Given the description of an element on the screen output the (x, y) to click on. 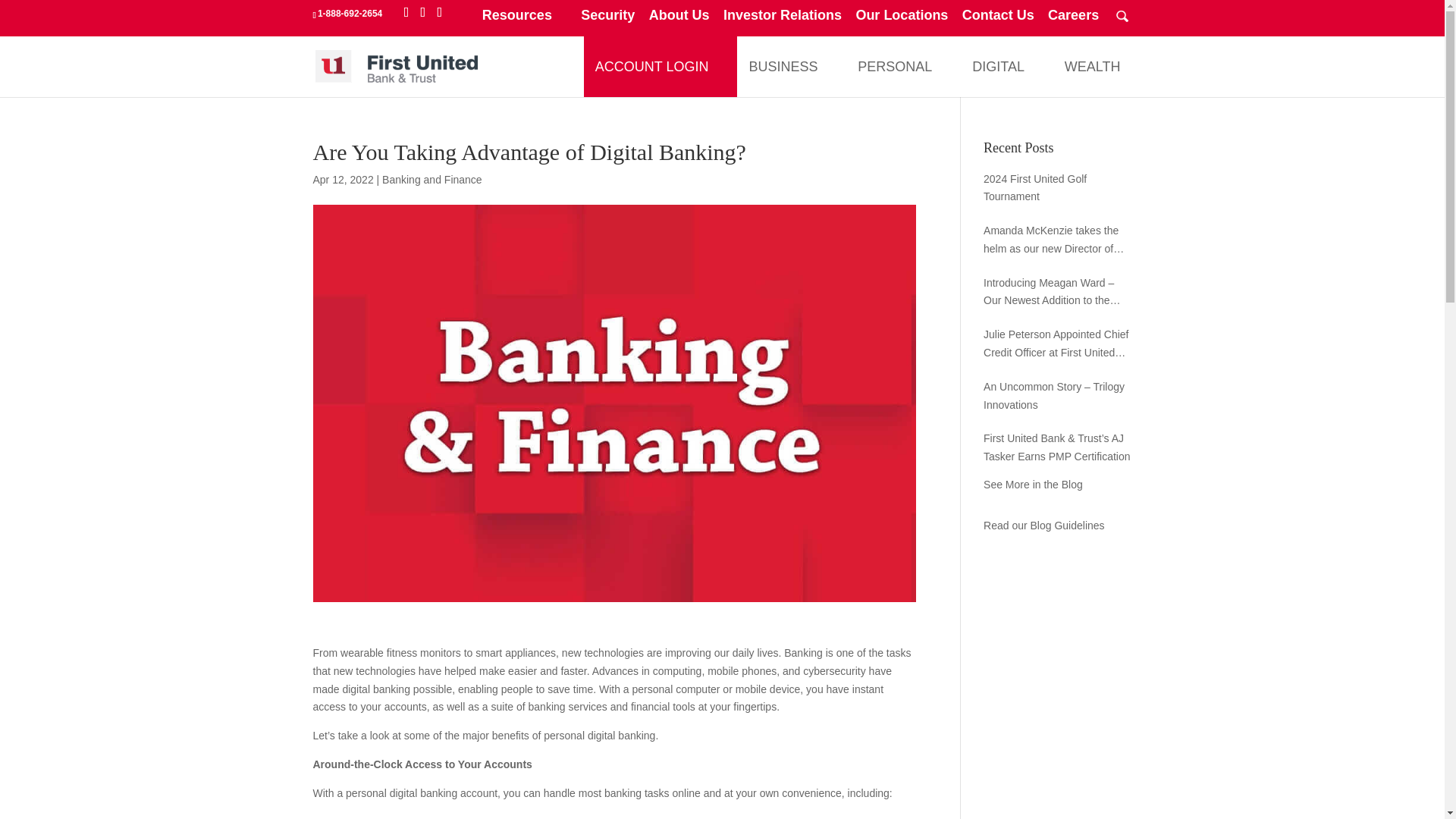
Investor Relations (782, 20)
Resources (524, 20)
Our Locations (901, 20)
Careers (1073, 20)
ACCOUNT LOGIN (651, 66)
Contact Us (997, 20)
PERSONAL (894, 66)
Investor Relations (782, 20)
About Us (679, 20)
Wealth (1092, 66)
